Given the description of an element on the screen output the (x, y) to click on. 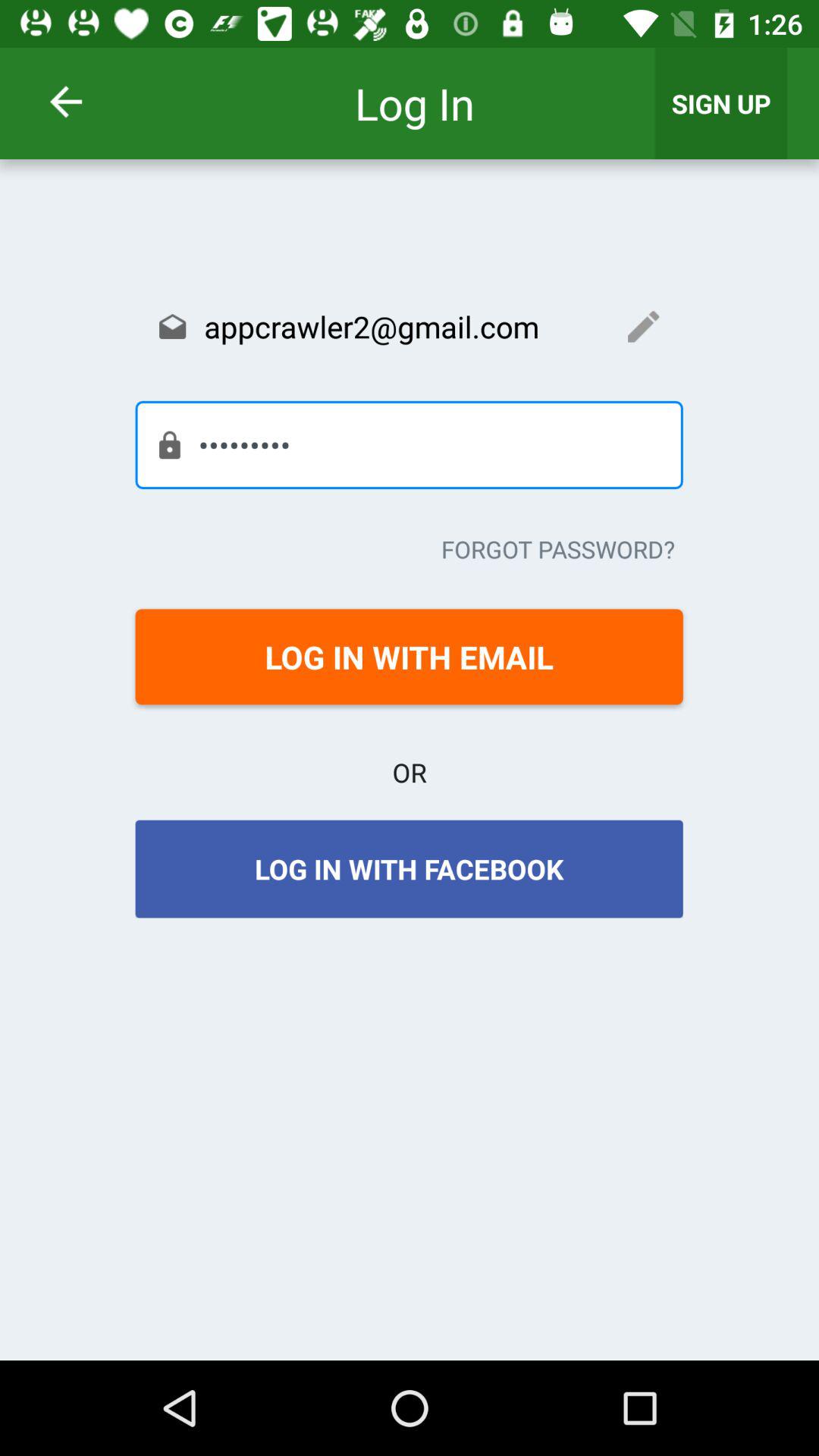
scroll until forgot password? (558, 548)
